Given the description of an element on the screen output the (x, y) to click on. 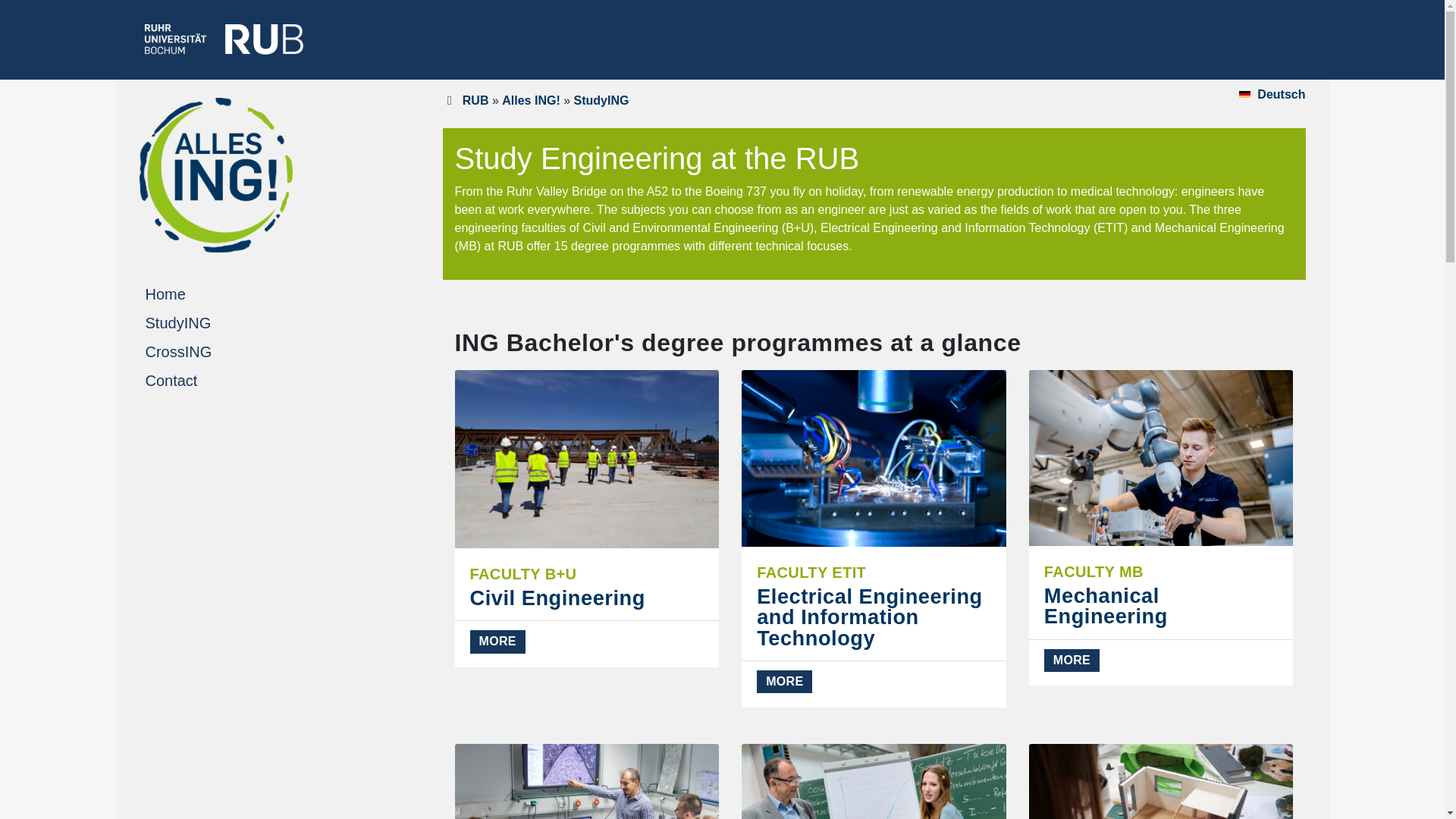
Deutsch (1161, 527)
RUB-Logo (1271, 93)
Alles ING! (223, 39)
StudyING (530, 100)
RUB (600, 100)
